Given the description of an element on the screen output the (x, y) to click on. 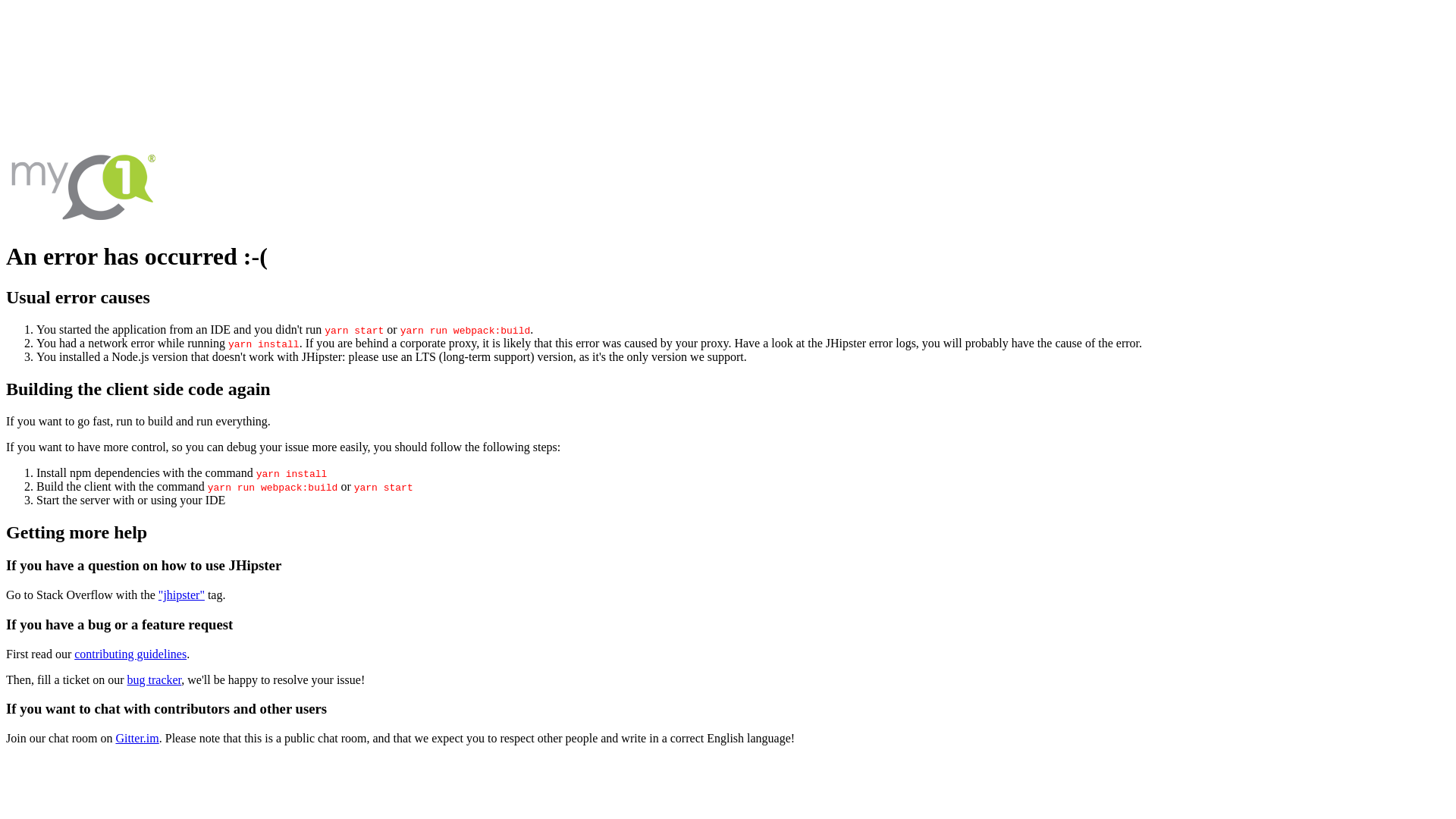
contributing guidelines Element type: text (130, 653)
bug tracker Element type: text (154, 679)
Gitter.im Element type: text (136, 737)
"jhipster" Element type: text (181, 594)
